Given the description of an element on the screen output the (x, y) to click on. 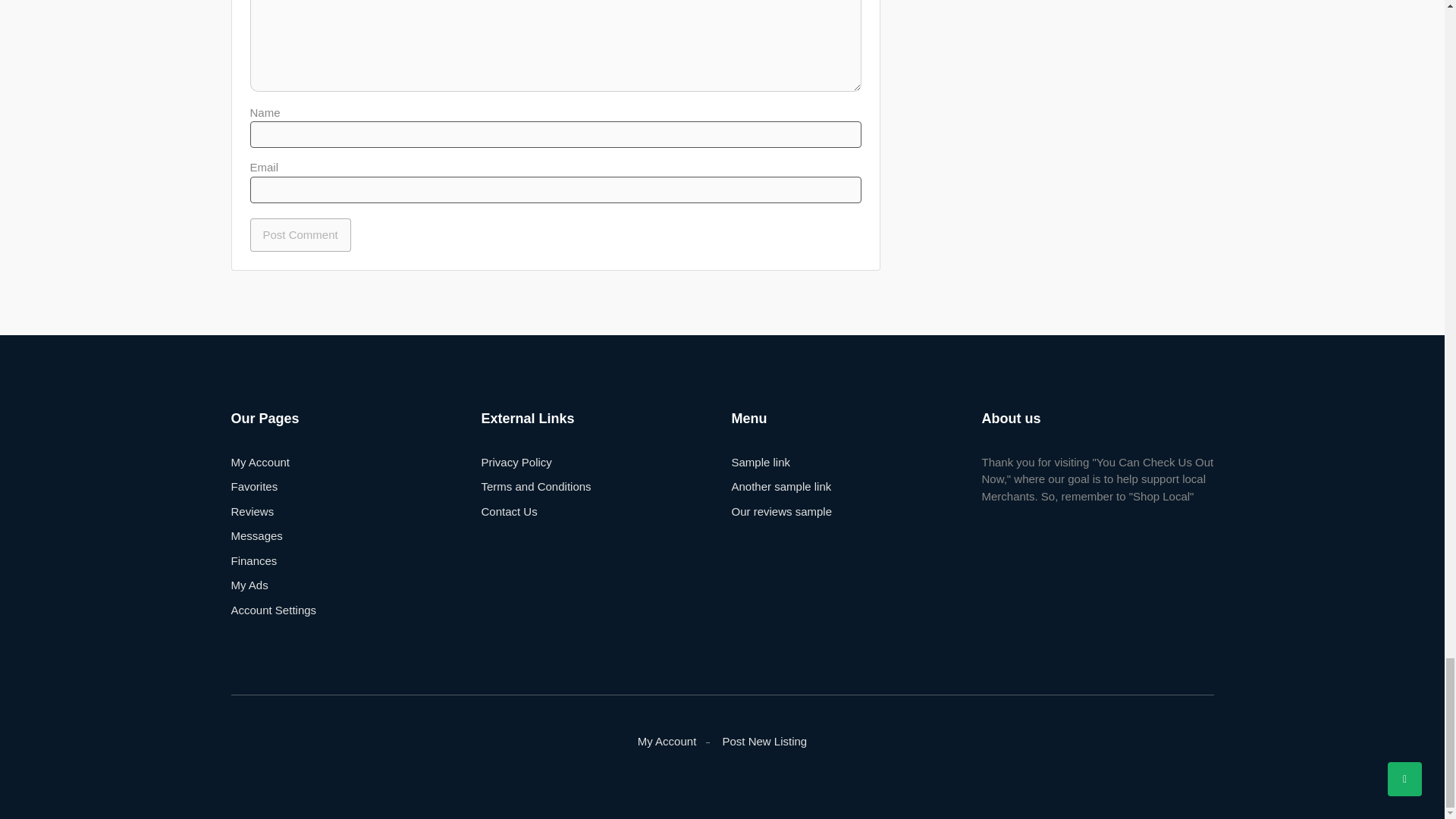
Post Comment (300, 235)
Post Comment (300, 235)
